Given the description of an element on the screen output the (x, y) to click on. 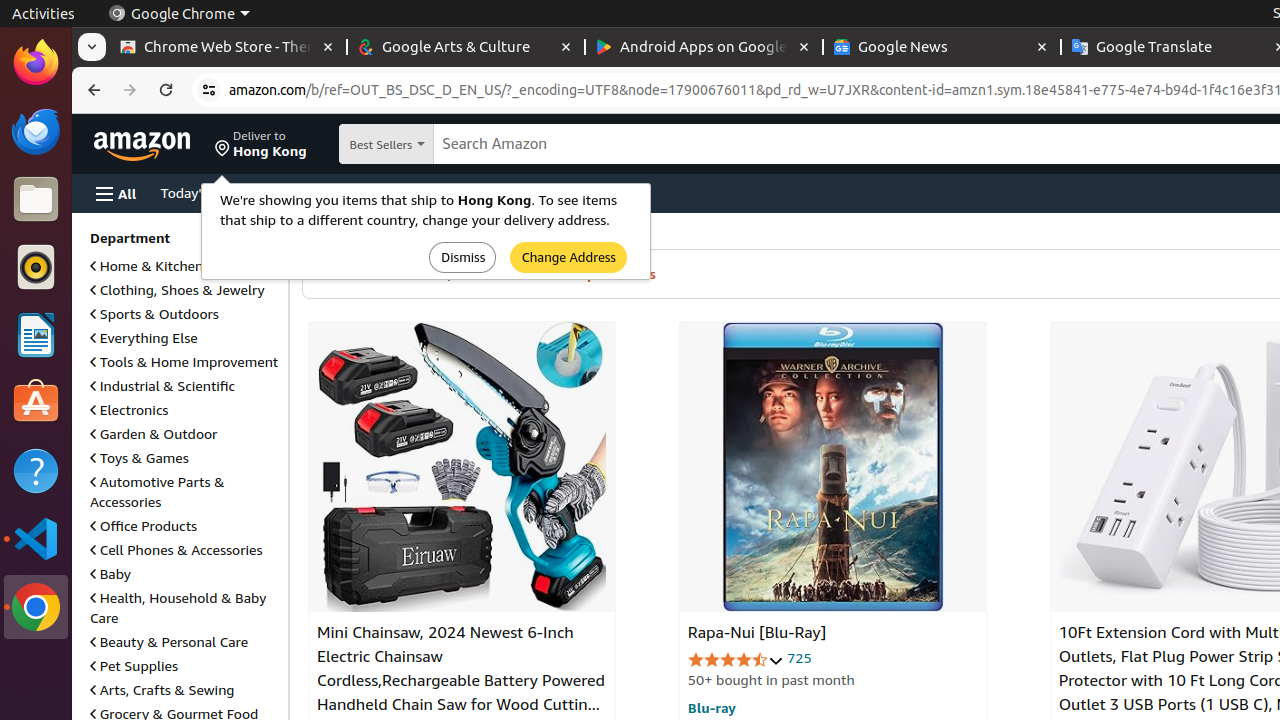
Help Element type: push-button (36, 470)
Google Chrome Element type: menu (179, 13)
Visual Studio Code Element type: push-button (36, 538)
Industrial & Scientific Element type: link (163, 385)
Baby Element type: link (110, 573)
